Given the description of an element on the screen output the (x, y) to click on. 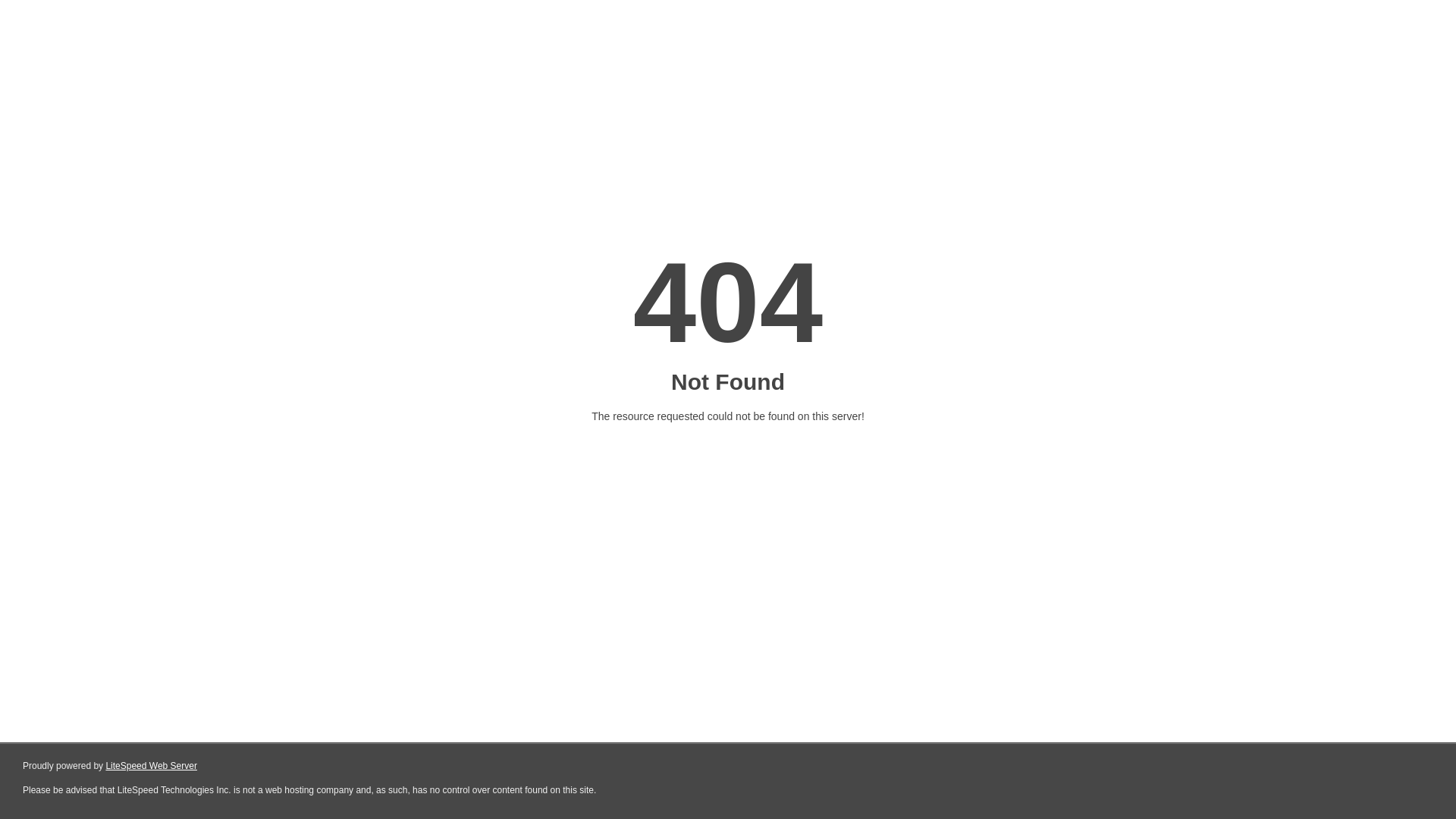
LiteSpeed Web Server Element type: text (151, 765)
